Given the description of an element on the screen output the (x, y) to click on. 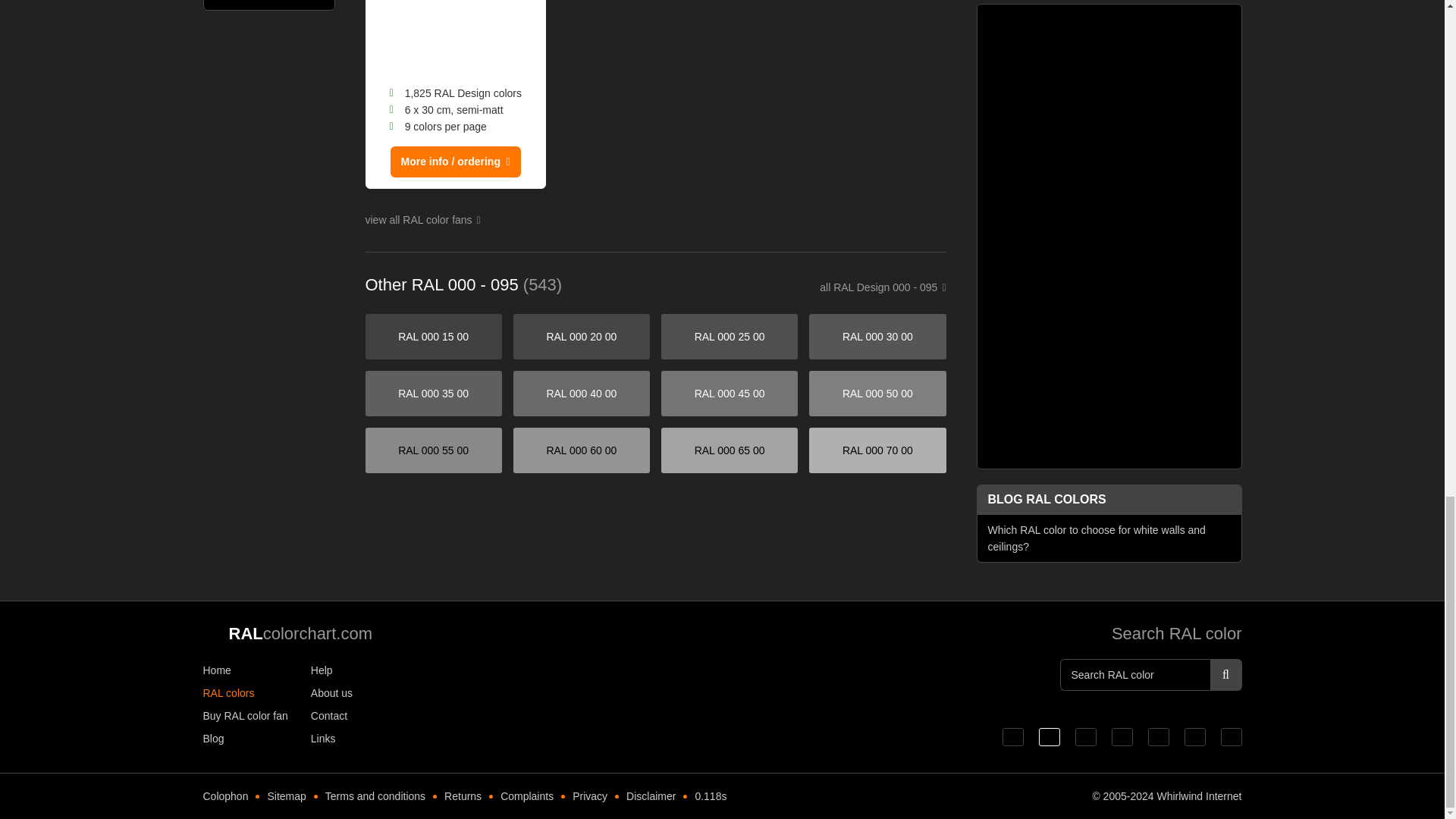
RAL 000 15 00 Ink black (433, 336)
RAL 000 45 00 Architecture grey (729, 393)
RAL 000 40 00 Dark grey (581, 393)
RAL 000 20 00 Slate black (581, 336)
RAL 000 55 00 Medium grey (433, 450)
RAL 000 70 00 Light grey (876, 450)
RAL 000 50 00 Steel grey (876, 393)
RAL 000 65 00 Mortar grey (729, 450)
RAL 000 25 00 Onyx black (729, 336)
RAL 000 30 00 Medium black (876, 336)
